Given the description of an element on the screen output the (x, y) to click on. 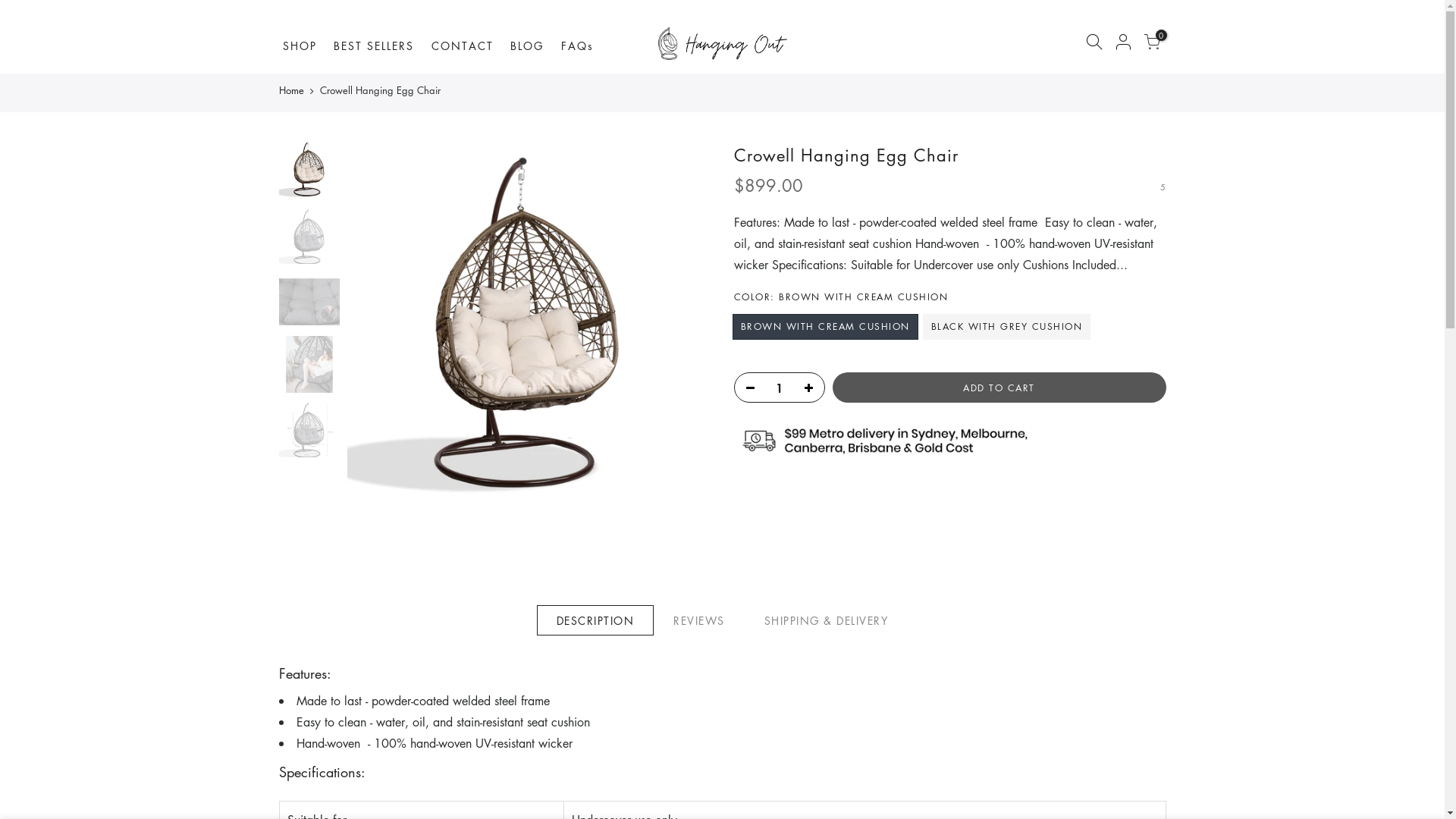
HOME PAGE Element type: text (536, 534)
FAQ'S Element type: text (703, 534)
REVIEWS Element type: text (698, 620)
FAQs Element type: text (581, 38)
SHOP Element type: text (304, 38)
SHIPPING & DELIVERY Element type: text (826, 620)
0 Element type: text (1151, 44)
BEST SELLERS Element type: text (378, 38)
CONTACT US Element type: text (722, 587)
SUBSCRIBE Element type: text (1104, 593)
BLOG Element type: text (531, 38)
SWING CHAIRS Element type: text (545, 614)
DESCRIPTION Element type: text (595, 620)
PRIVACY POLICY Element type: text (729, 693)
SEARCH Element type: text (526, 640)
SINGLE SEATERS Element type: text (547, 561)
ADD TO CART Element type: text (999, 387)
Home Element type: text (291, 89)
5 Element type: text (1163, 185)
REFUND POLICIES Element type: text (732, 614)
DOUBLE SEATERS Element type: text (548, 587)
hello@hangingout.com.au Element type: text (361, 586)
SHIPPING & DELIVERY Element type: text (742, 561)
TERMS & CONDITIONS Element type: text (745, 640)
CONTACT Element type: text (467, 38)
WARRANTY & CARE Element type: text (737, 667)
